Given the description of an element on the screen output the (x, y) to click on. 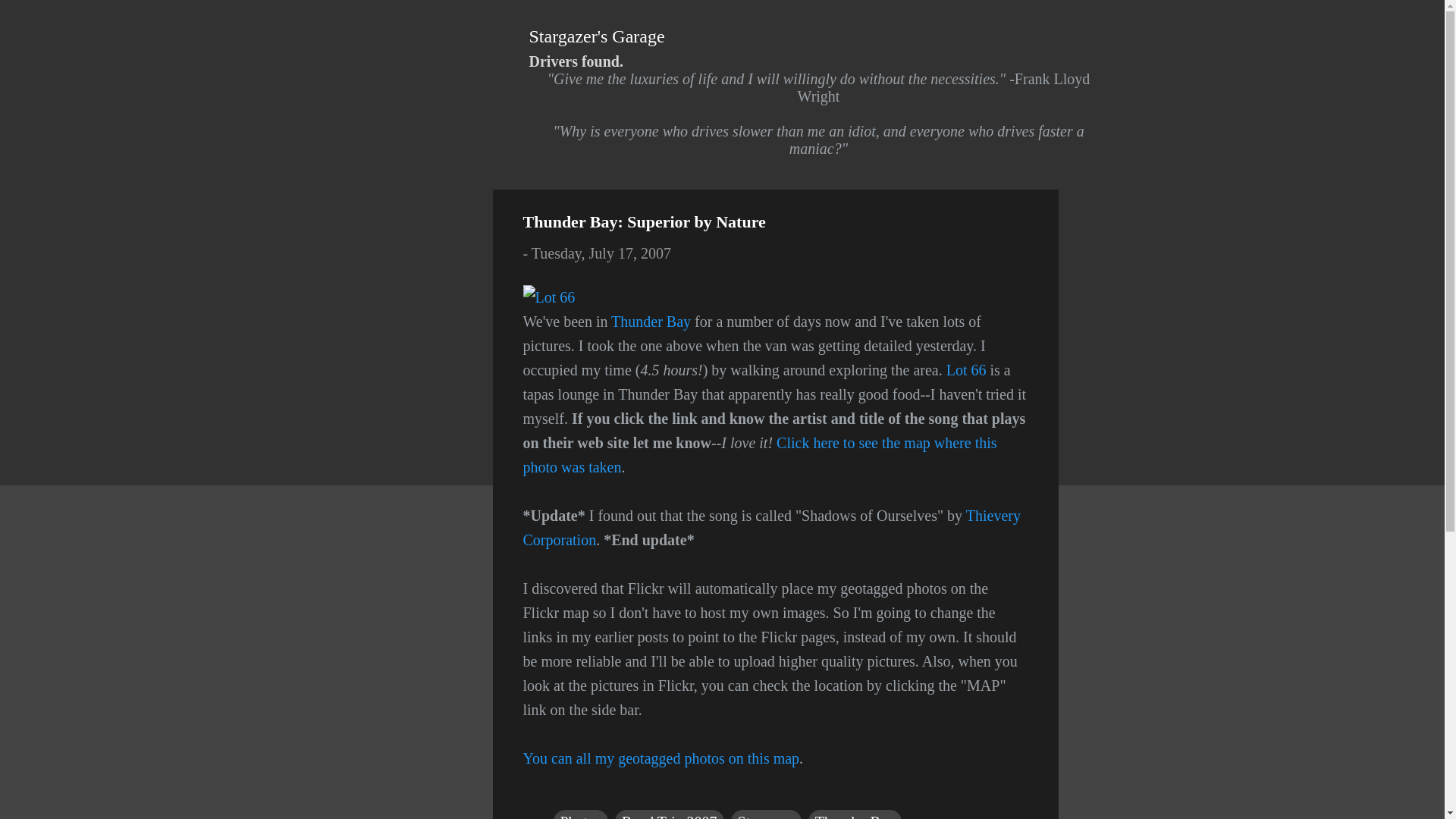
Lot 66 (966, 369)
Tuesday, July 17, 2007 (601, 252)
Thunder Bay (854, 814)
Search (37, 18)
permanent link (601, 252)
Photo Sharing (548, 297)
Stargazer (766, 814)
Thievery Corporation (771, 526)
Road Trip 2007 (668, 814)
Thunder Bay (650, 321)
